Given the description of an element on the screen output the (x, y) to click on. 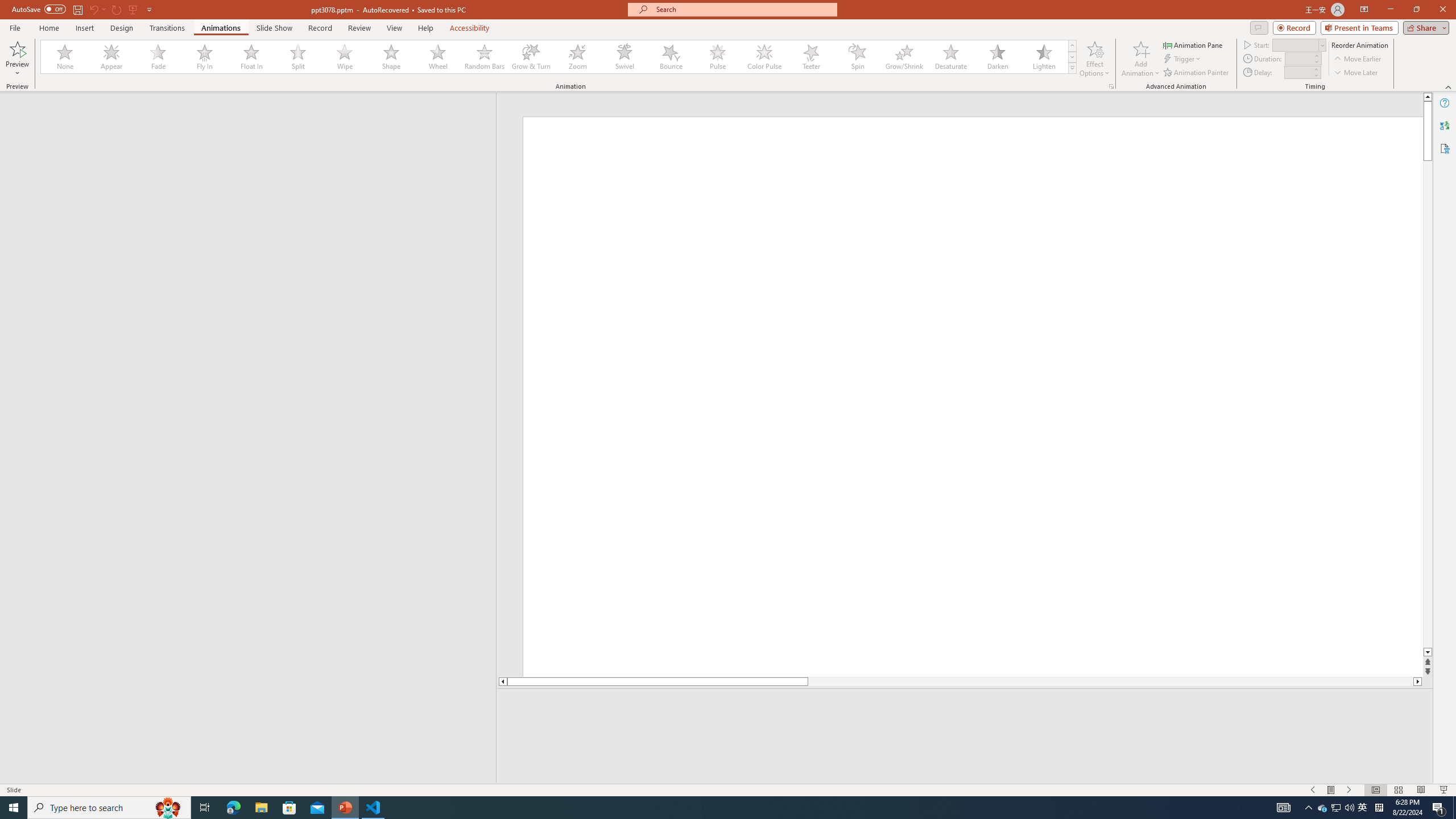
Record (320, 28)
Add Animation (1141, 58)
Class: NetUIImage (1072, 68)
Preview (17, 58)
Bounce (670, 56)
Undo (96, 9)
Zoom (577, 56)
Grow/Shrink (903, 56)
More Options (17, 68)
Darken (997, 56)
From Beginning (133, 9)
Class: MsoCommandBar (728, 789)
Animations (220, 28)
Microsoft search (742, 9)
AutoSave (38, 9)
